Given the description of an element on the screen output the (x, y) to click on. 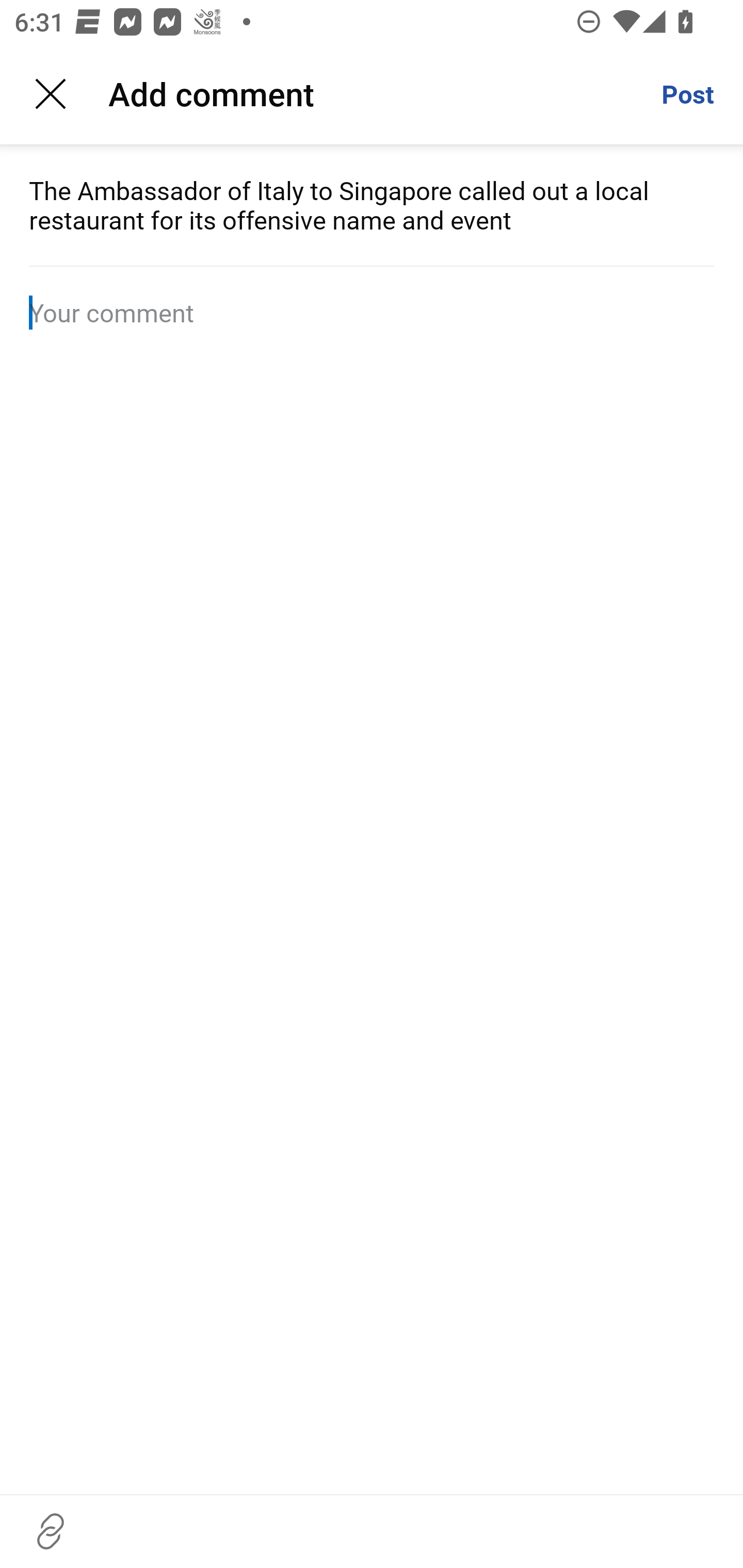
Close (50, 93)
Post (687, 94)
Your comment (371, 312)
Insert a link (50, 1530)
